Given the description of an element on the screen output the (x, y) to click on. 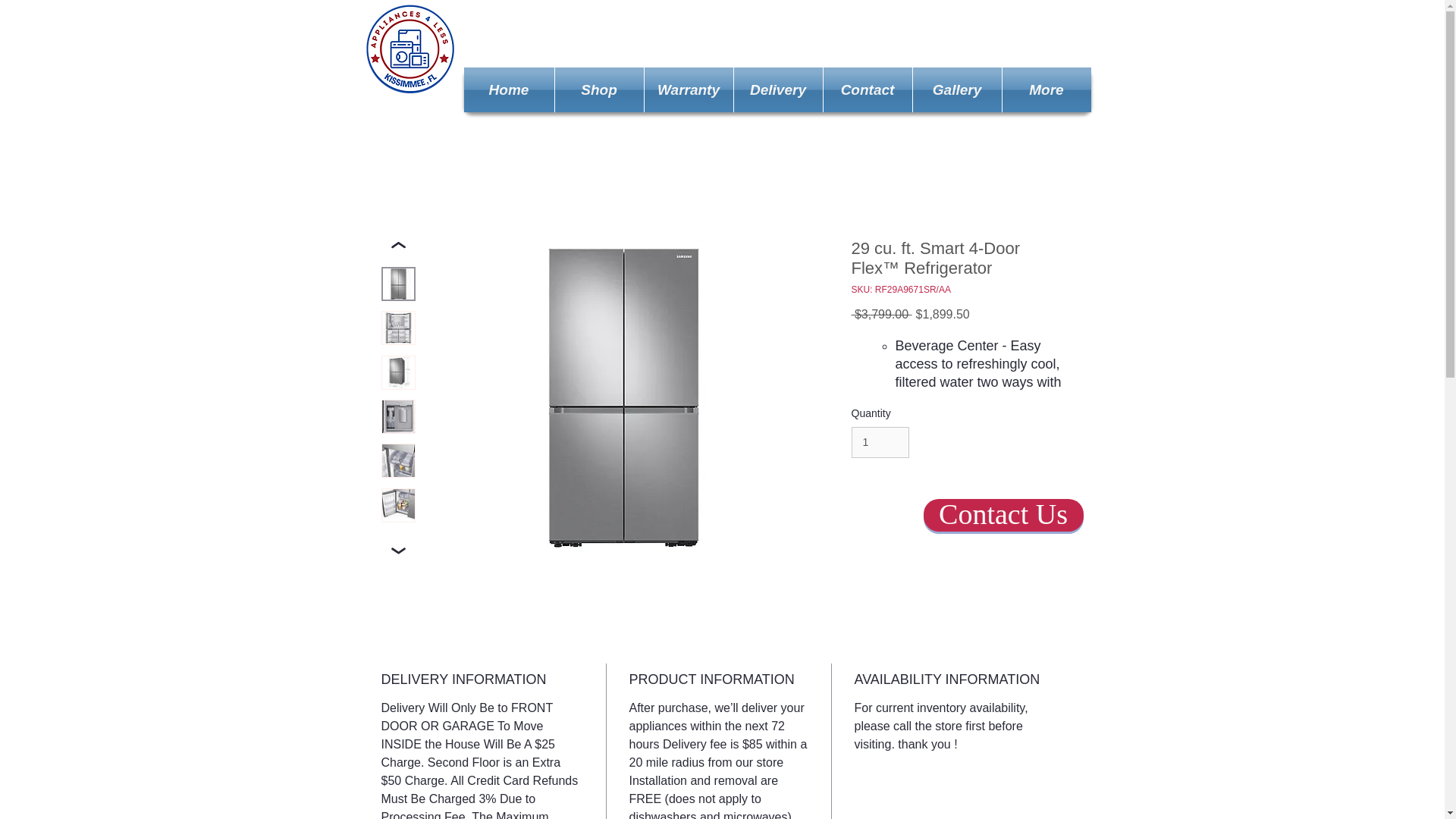
Contact (868, 89)
Shop (598, 89)
Delivery (777, 89)
Home (509, 89)
1 (879, 441)
Gallery (956, 89)
Contact Us (1003, 514)
Warranty (689, 89)
